Given the description of an element on the screen output the (x, y) to click on. 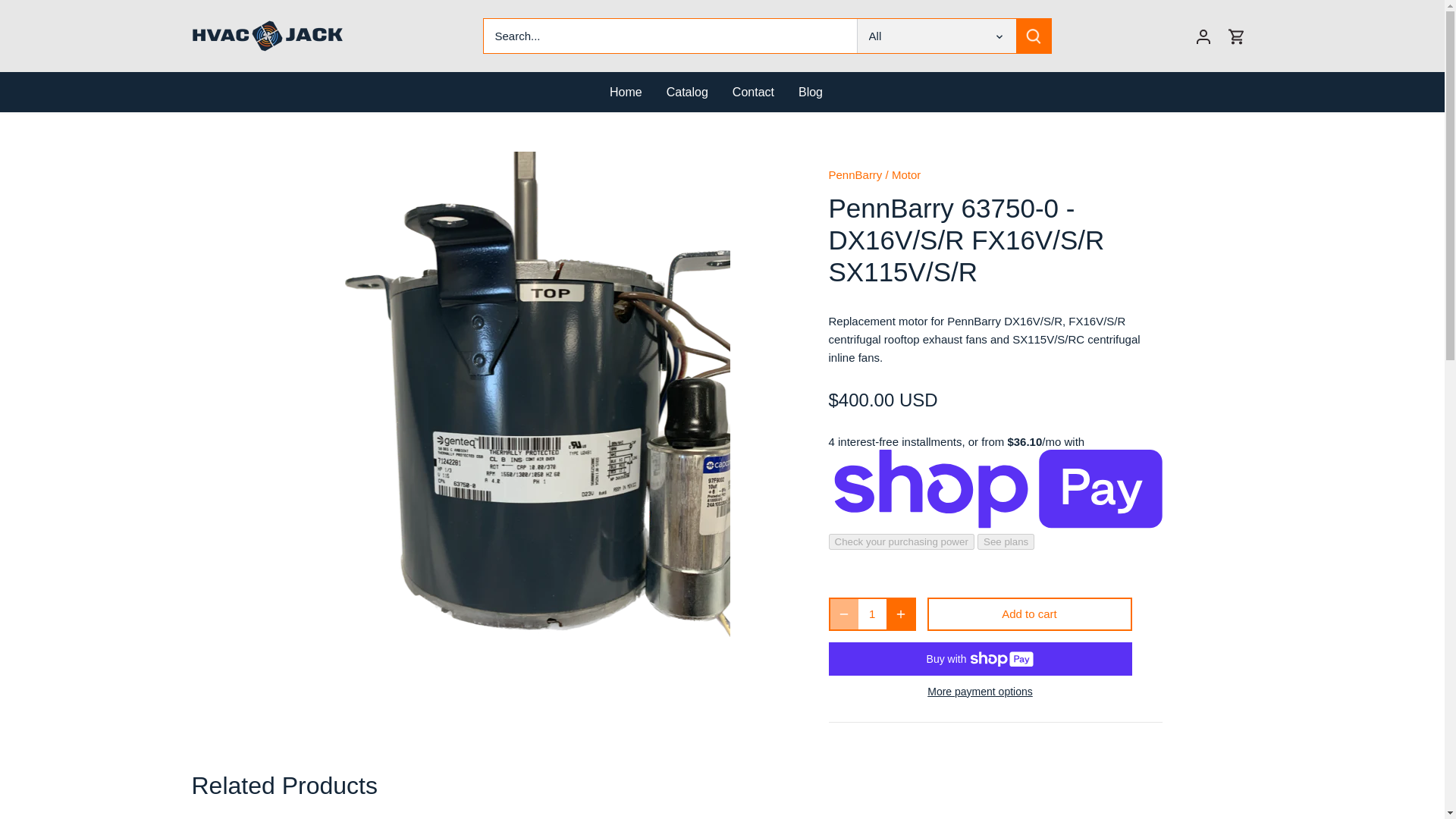
Contact (753, 92)
Blog (810, 92)
Catalog (686, 92)
PennBarry (855, 174)
More payment options (979, 691)
Motor (905, 174)
1 (872, 613)
Add to cart (1028, 613)
Home (631, 92)
